Given the description of an element on the screen output the (x, y) to click on. 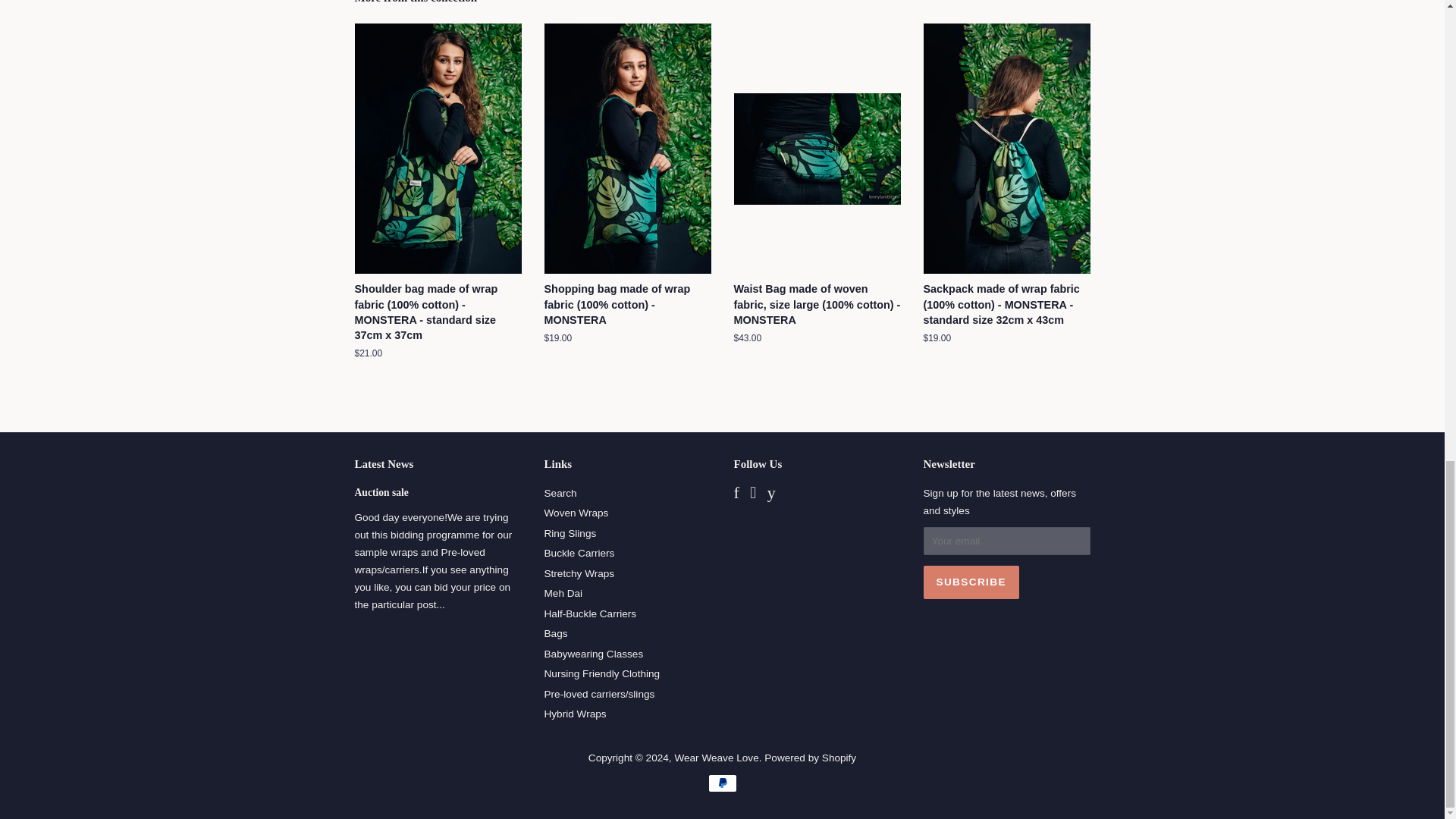
Wear Weave Love on Facebook (736, 494)
Subscribe (971, 581)
Wear Weave Love on Instagram (752, 494)
Wear Weave Love on YouTube (771, 494)
PayPal (721, 782)
